Given the description of an element on the screen output the (x, y) to click on. 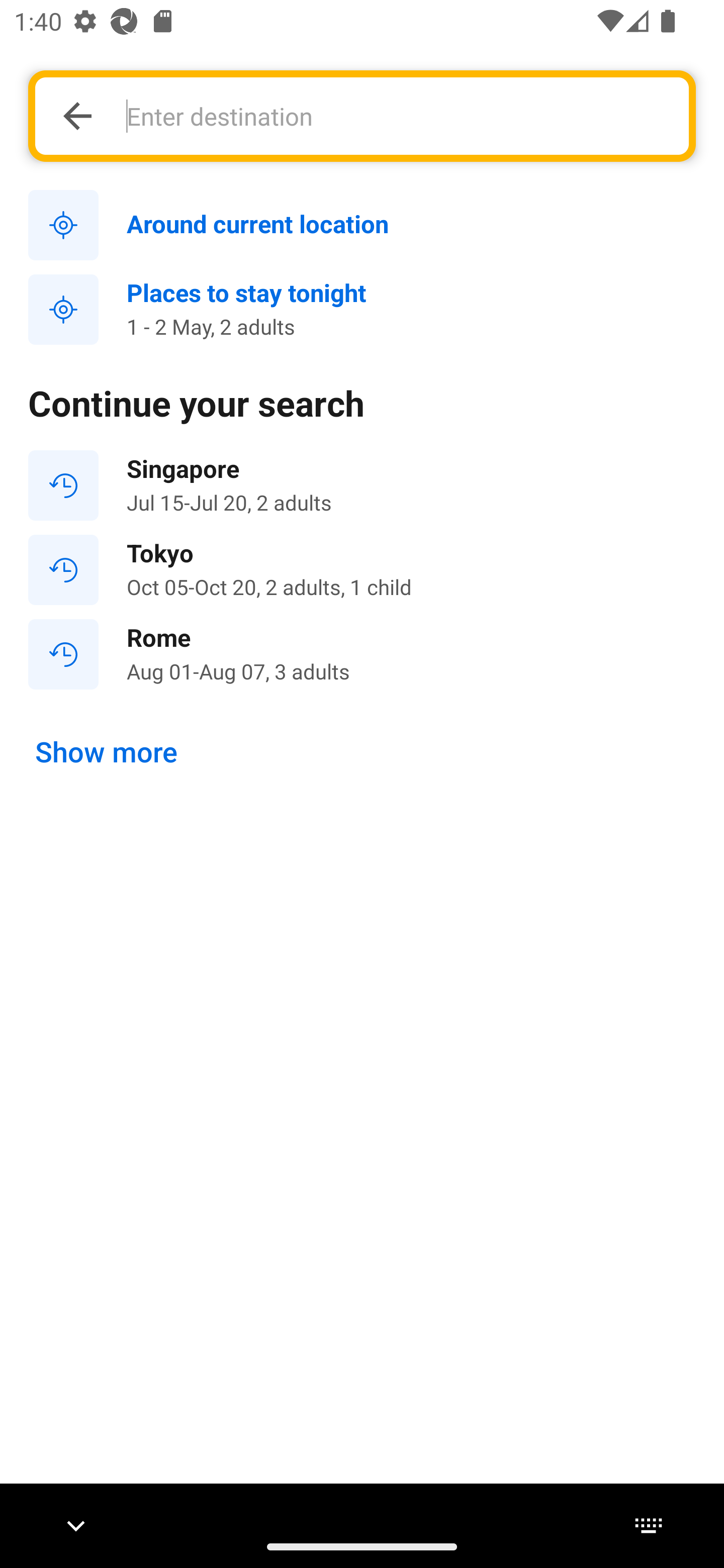
Enter destination (396, 115)
Around current location (362, 225)
Places to stay tonight 1 - 2 May, 2 adults (362, 309)
Singapore Jul 15-Jul 20, 2 adults  (362, 485)
Tokyo Oct 05-Oct 20, 2 adults, 1 child (362, 569)
Rome Aug 01-Aug 07, 3 adults  (362, 653)
Show more (106, 752)
